Given the description of an element on the screen output the (x, y) to click on. 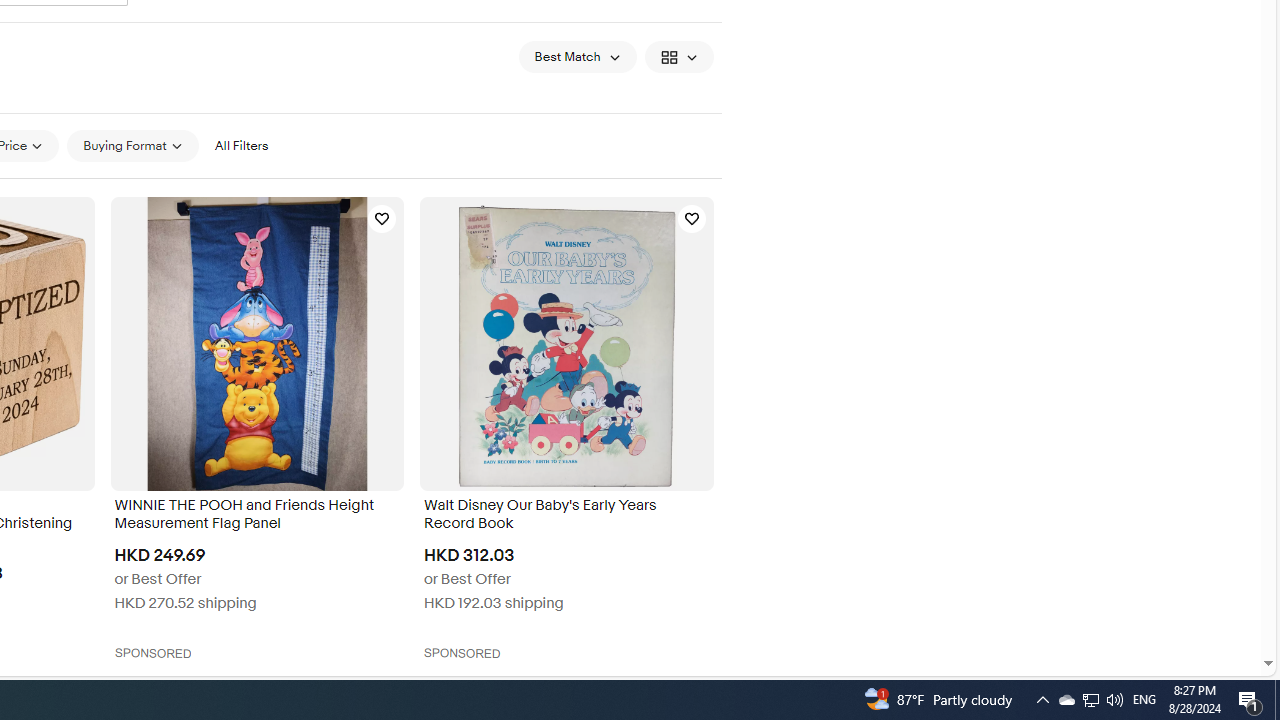
Sort: Best Match (577, 56)
Buying Format (132, 145)
All Filters (241, 146)
Walt Disney Our Baby's Early Years Record Book (566, 516)
WINNIE THE POOH and Friends Height Measurement Flag Panel (256, 516)
View: Gallery View (678, 56)
All Filters (241, 145)
Buying Format (132, 146)
